Given the description of an element on the screen output the (x, y) to click on. 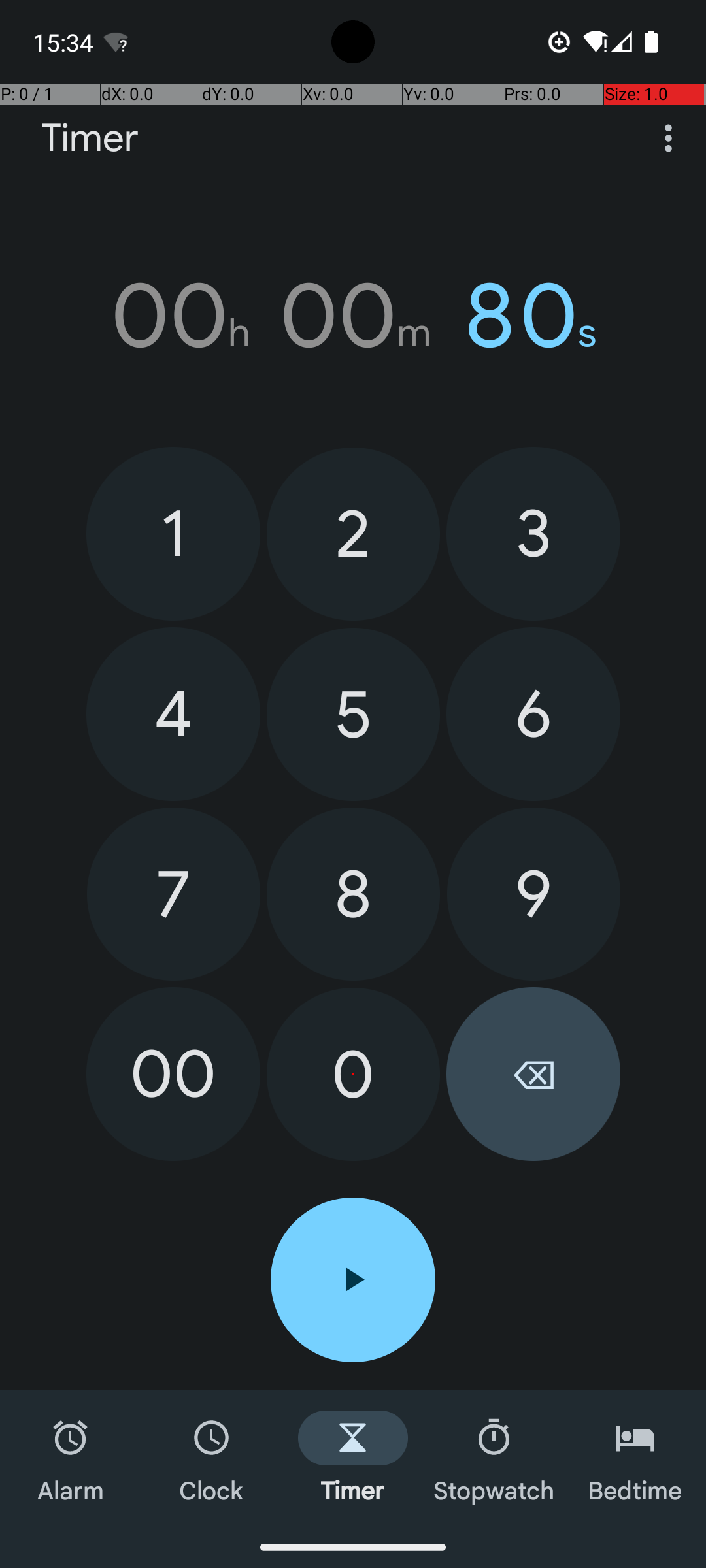
00h 00m 80s Element type: android.widget.TextView (353, 315)
